Given the description of an element on the screen output the (x, y) to click on. 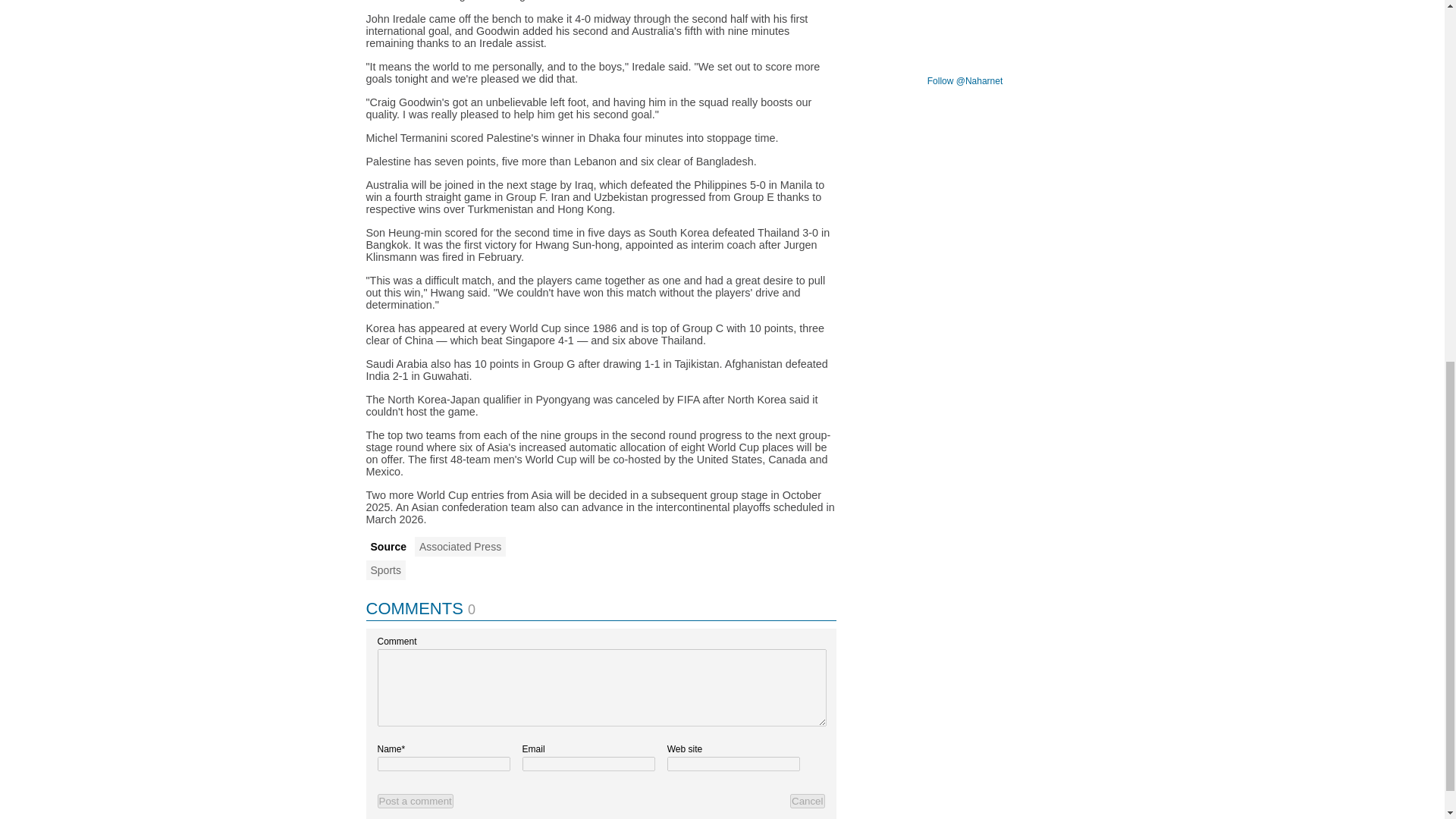
Sports (384, 569)
Post a comment (414, 800)
Associated Press (459, 546)
Post a comment (414, 800)
Cancel (807, 800)
